Given the description of an element on the screen output the (x, y) to click on. 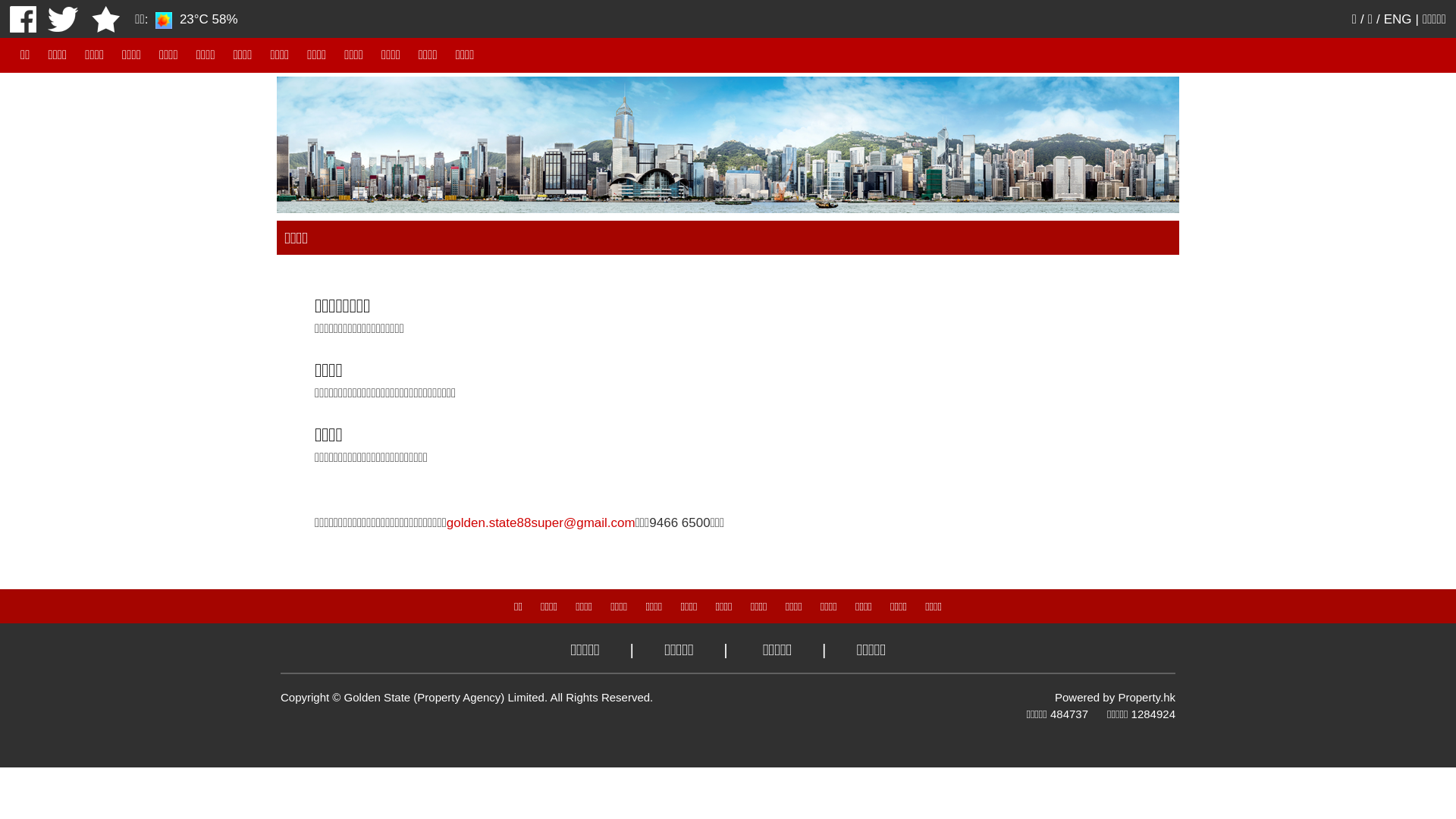
golden.state88super@gmail.com Element type: text (540, 522)
Property.hk Element type: text (1146, 696)
ENG Element type: text (1397, 19)
